Given the description of an element on the screen output the (x, y) to click on. 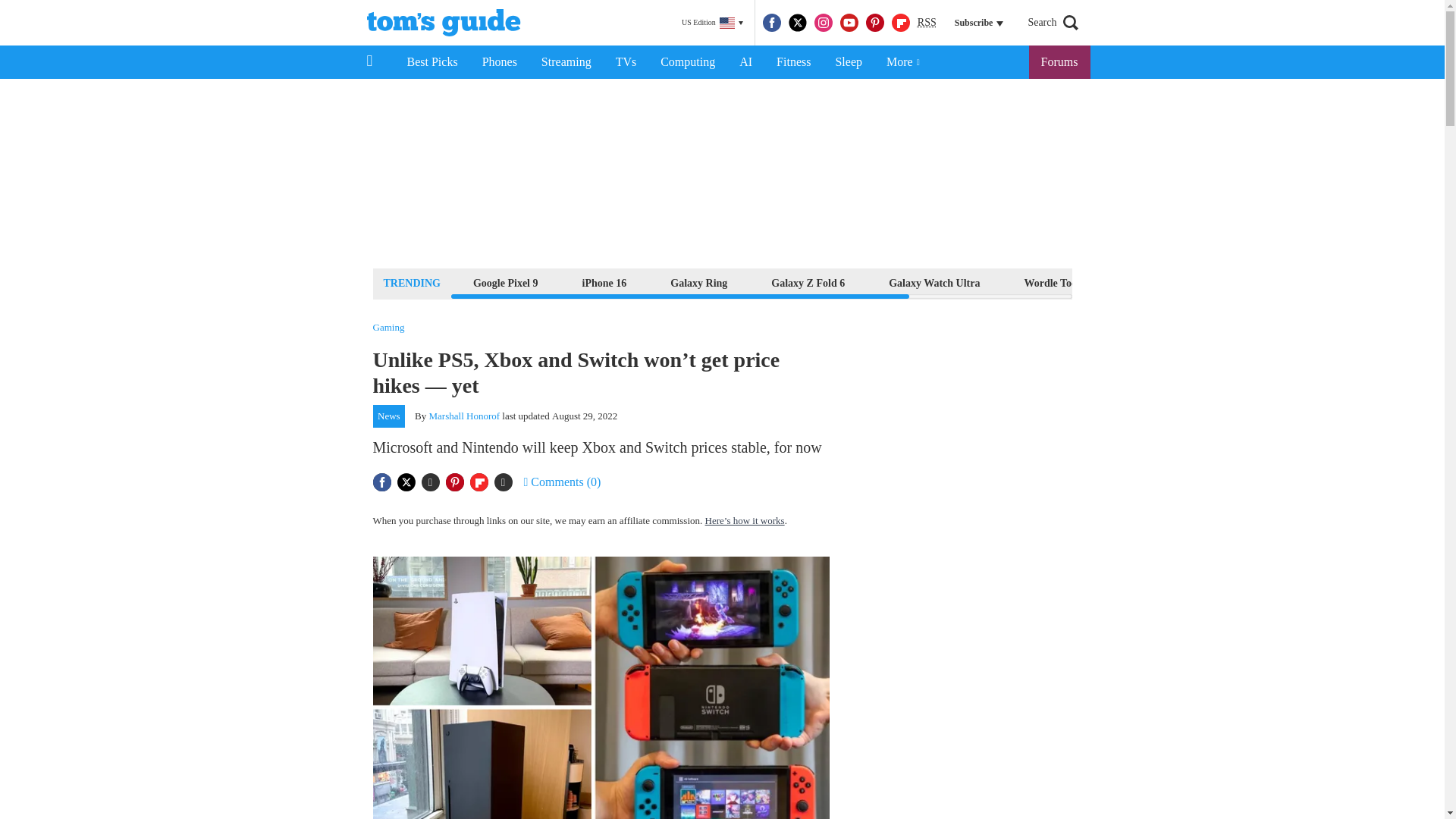
TVs (626, 61)
Sleep (848, 61)
Best Picks (431, 61)
Computing (686, 61)
AI (745, 61)
RSS (926, 22)
US Edition (712, 22)
Phones (499, 61)
Really Simple Syndication (926, 21)
Fitness (793, 61)
Streaming (566, 61)
